Given the description of an element on the screen output the (x, y) to click on. 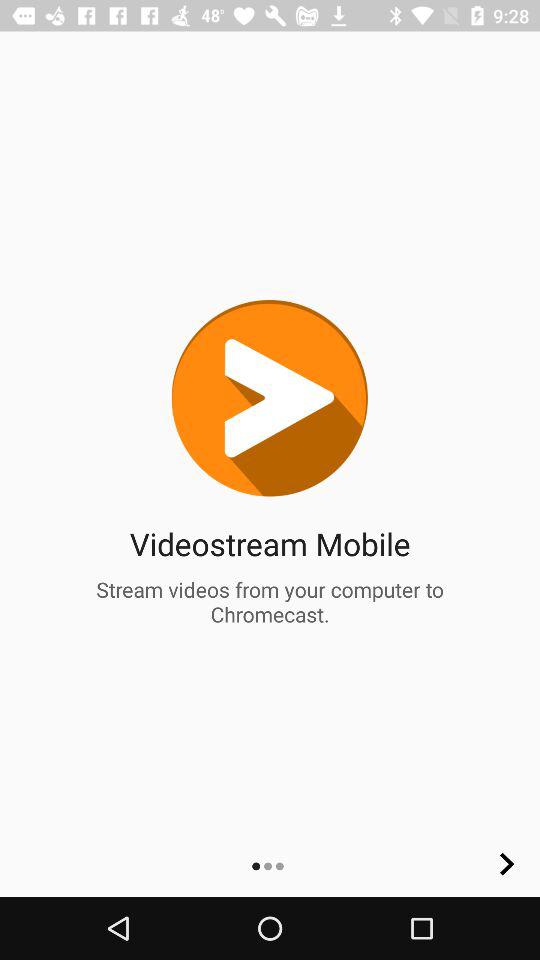
next (507, 864)
